Given the description of an element on the screen output the (x, y) to click on. 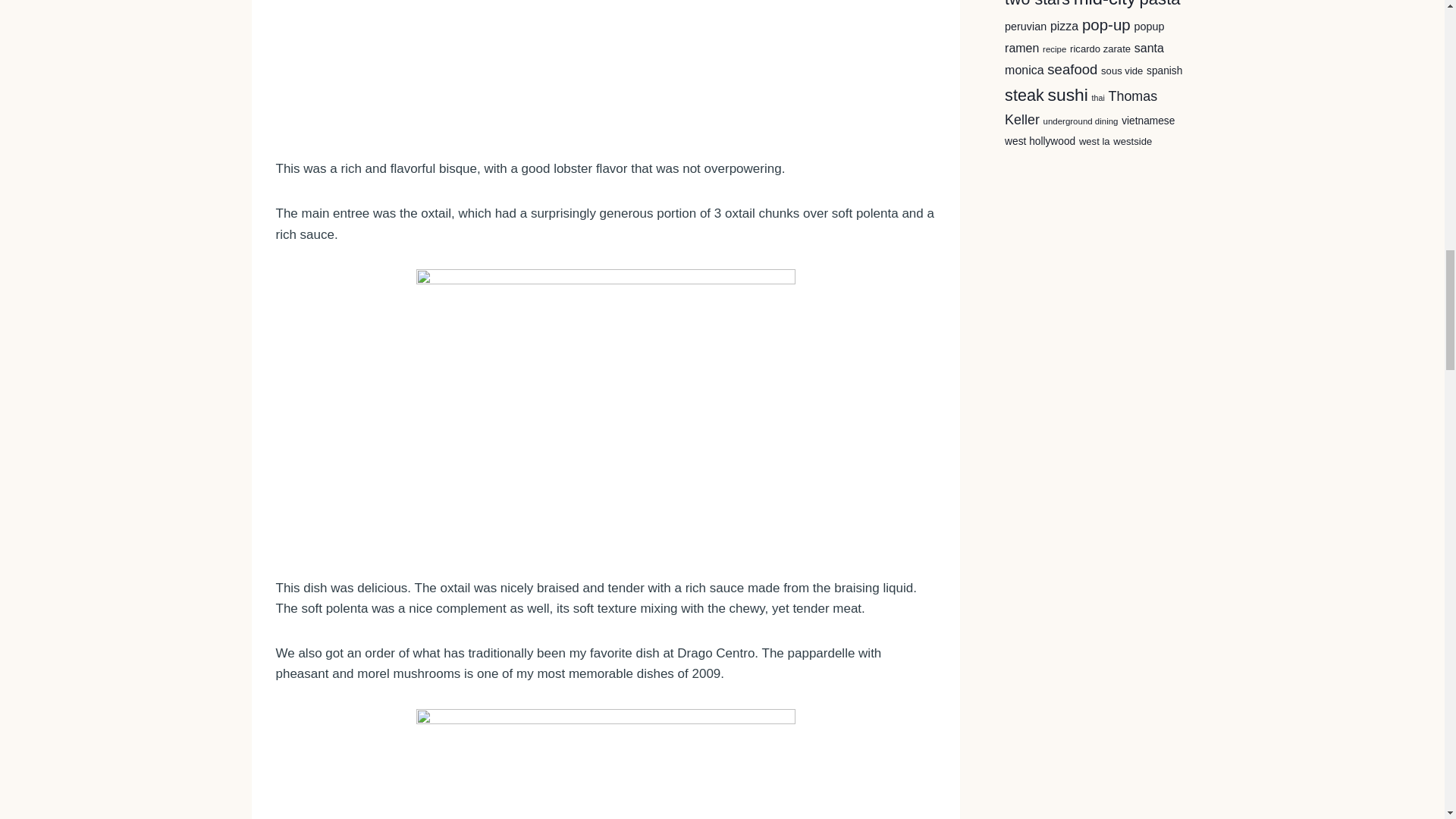
oxtail (605, 411)
pappardelle (605, 764)
lobster bisque (605, 67)
